Given the description of an element on the screen output the (x, y) to click on. 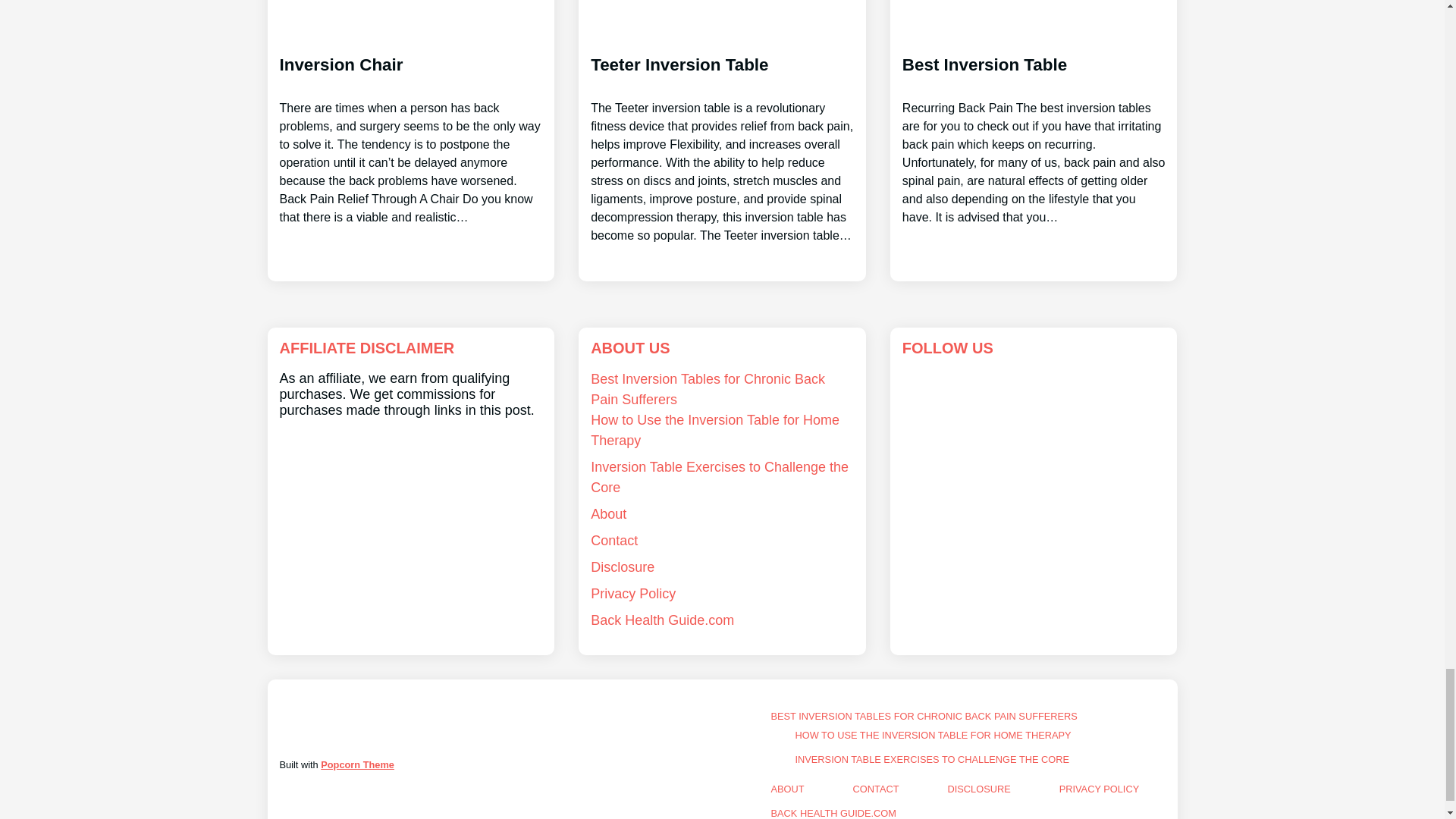
Inversion Chair (410, 127)
Teeter Inversion Table (722, 136)
